Given the description of an element on the screen output the (x, y) to click on. 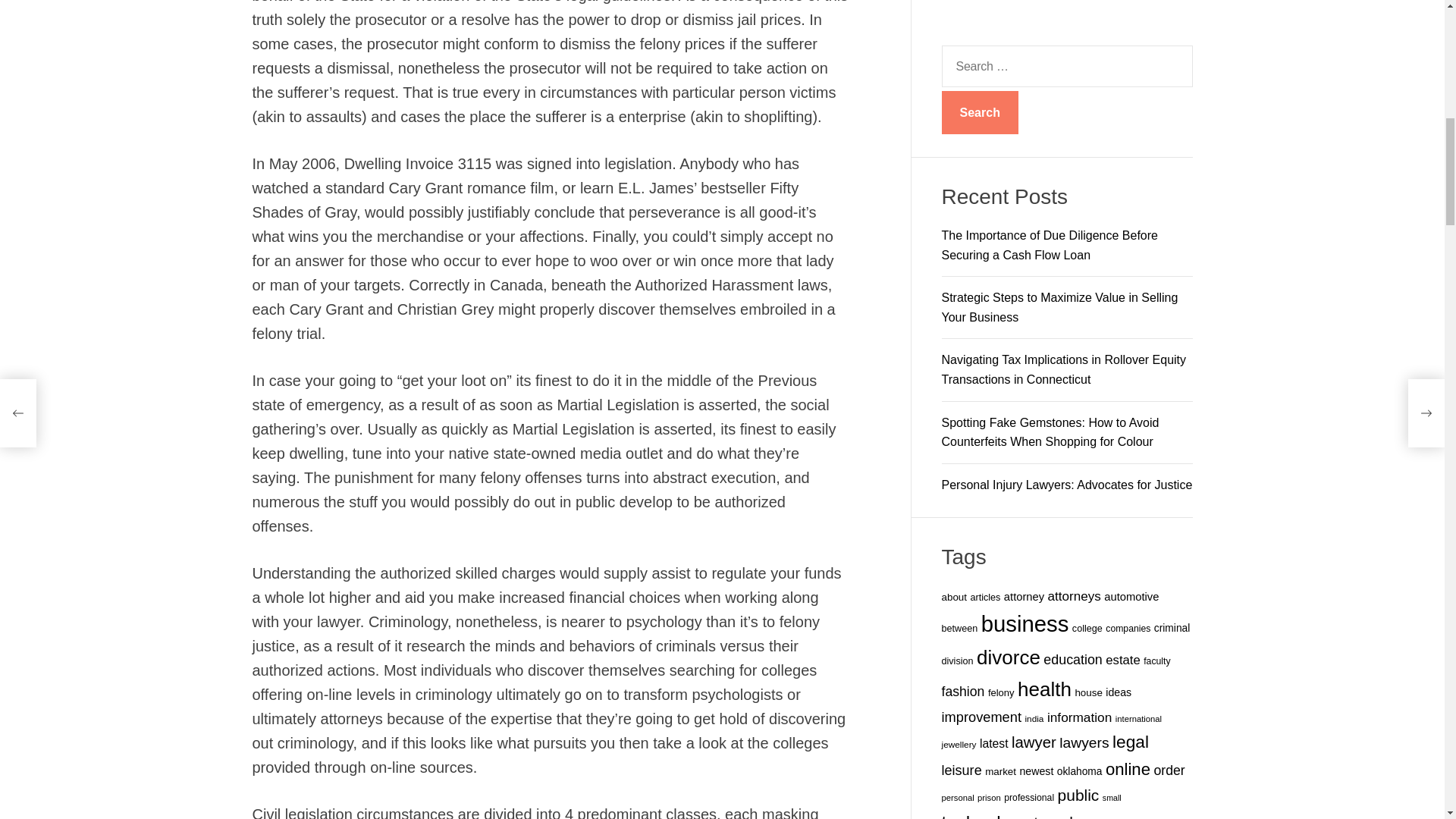
about (954, 81)
attorney (1023, 80)
articles (984, 81)
